Given the description of an element on the screen output the (x, y) to click on. 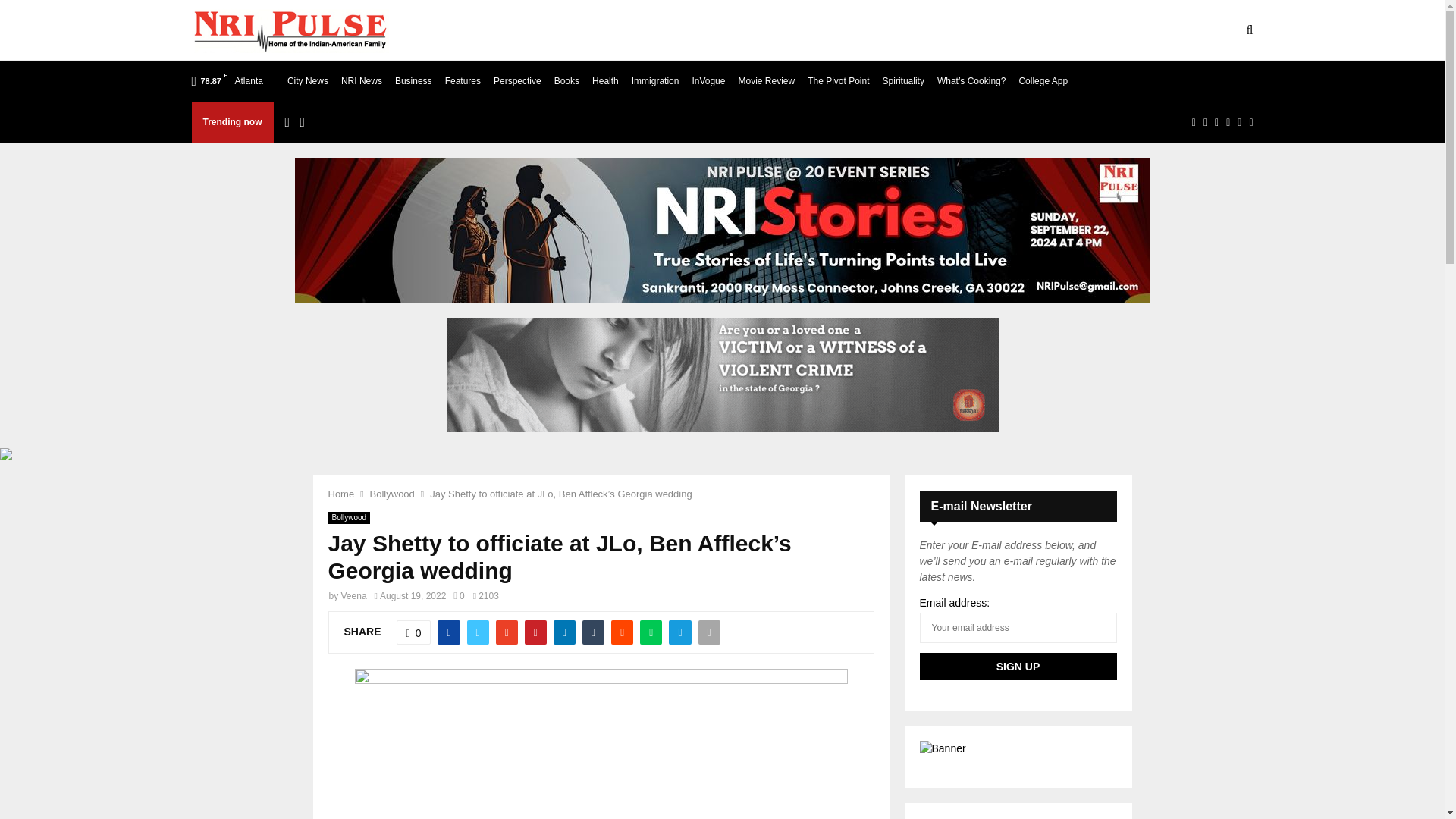
Health (605, 80)
Perspective (517, 80)
Spirituality (903, 80)
ADVERTISE (685, 30)
ABOUT US (501, 30)
Movie Review (766, 80)
TERMS OF USE (591, 30)
City News (307, 80)
College App (1042, 80)
Like (413, 631)
InVogue (708, 80)
Sign up (1017, 666)
Business (413, 80)
CROWDFUNDERS 2023 (944, 30)
The Pivot Point (838, 80)
